Given the description of an element on the screen output the (x, y) to click on. 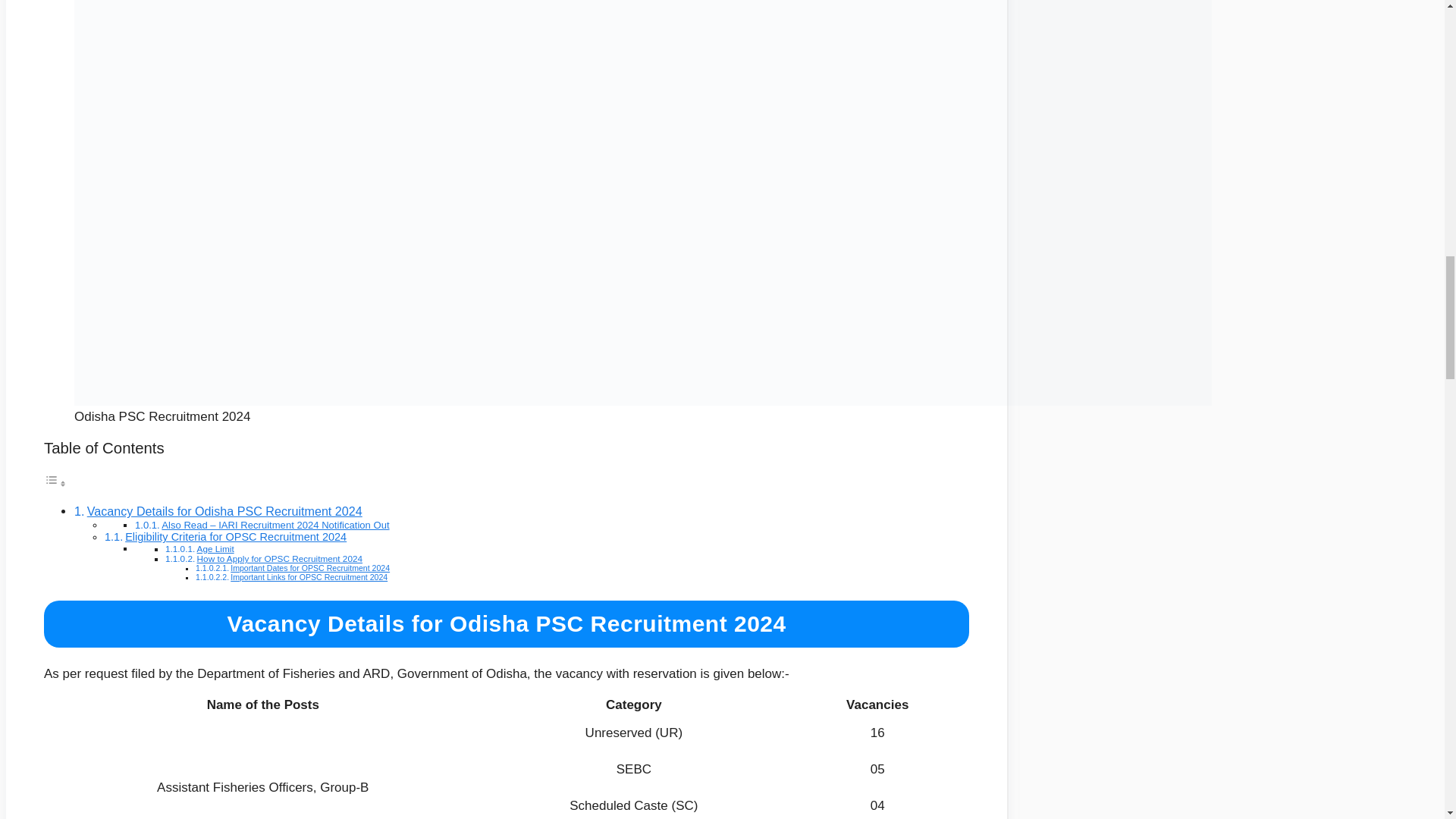
Eligibility Criteria for OPSC Recruitment 2024 (235, 536)
How to Apply for OPSC Recruitment 2024 (279, 558)
Important Links for OPSC Recruitment 2024 (308, 576)
Important Links for OPSC Recruitment 2024 (308, 576)
Age Limit (215, 548)
Important Dates for OPSC Recruitment 2024 (310, 567)
Vacancy Details for Odisha PSC Recruitment 2024 (224, 510)
Vacancy Details for Odisha PSC Recruitment 2024 (224, 510)
